Given the description of an element on the screen output the (x, y) to click on. 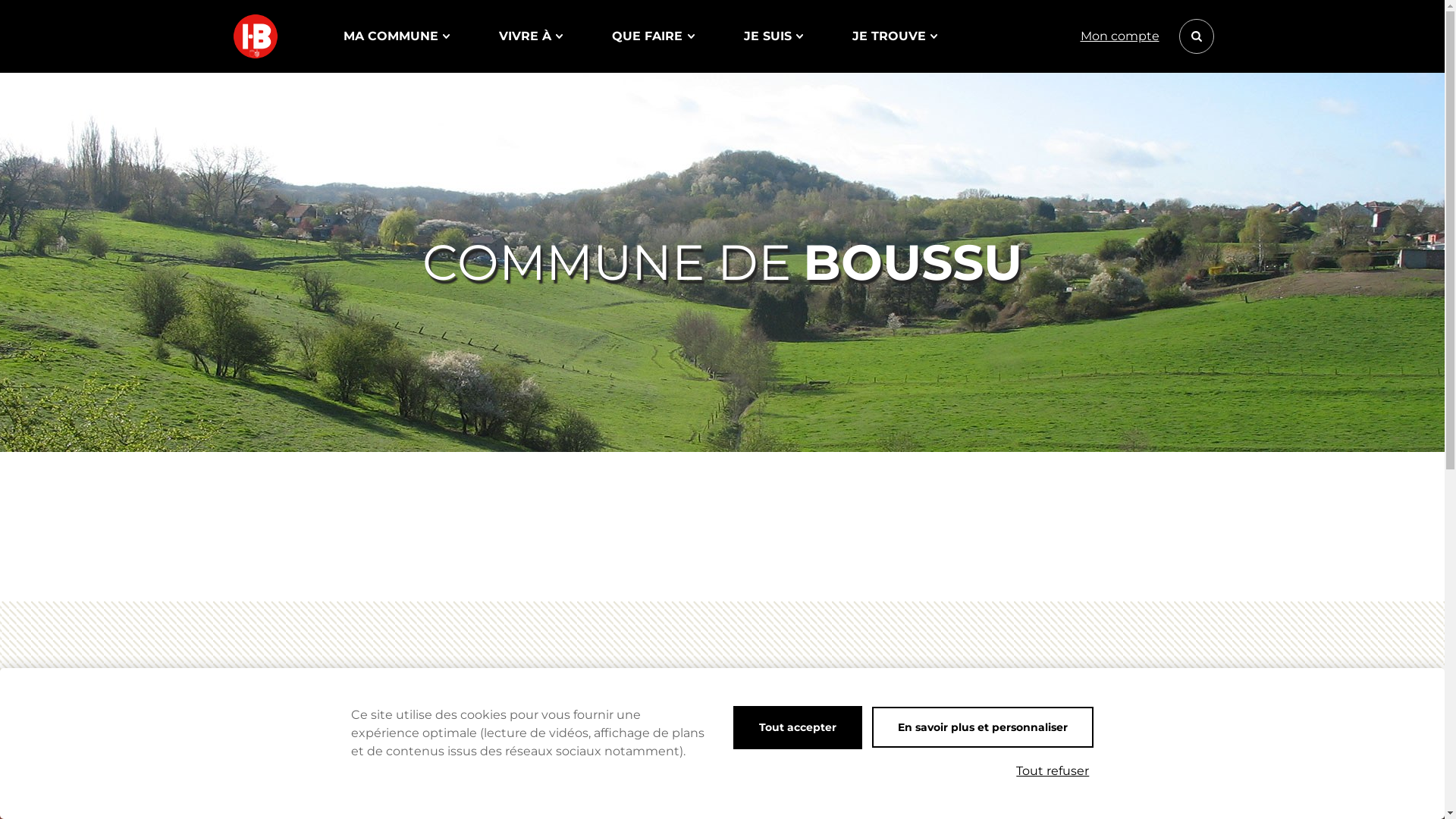
Mon compte Element type: text (1118, 35)
MA COMMUNE Element type: text (395, 36)
JE SUIS Element type: text (773, 36)
En savoir plus et personnaliser Element type: text (982, 726)
QUE FAIRE Element type: text (652, 36)
Rechercher Element type: text (1195, 35)
Commune de Boussu Element type: hover (254, 36)
JE TROUVE Element type: text (894, 36)
Tout accepter Element type: text (797, 727)
Tout refuser Element type: text (1052, 771)
Commune de Boussu Element type: hover (257, 36)
